Given the description of an element on the screen output the (x, y) to click on. 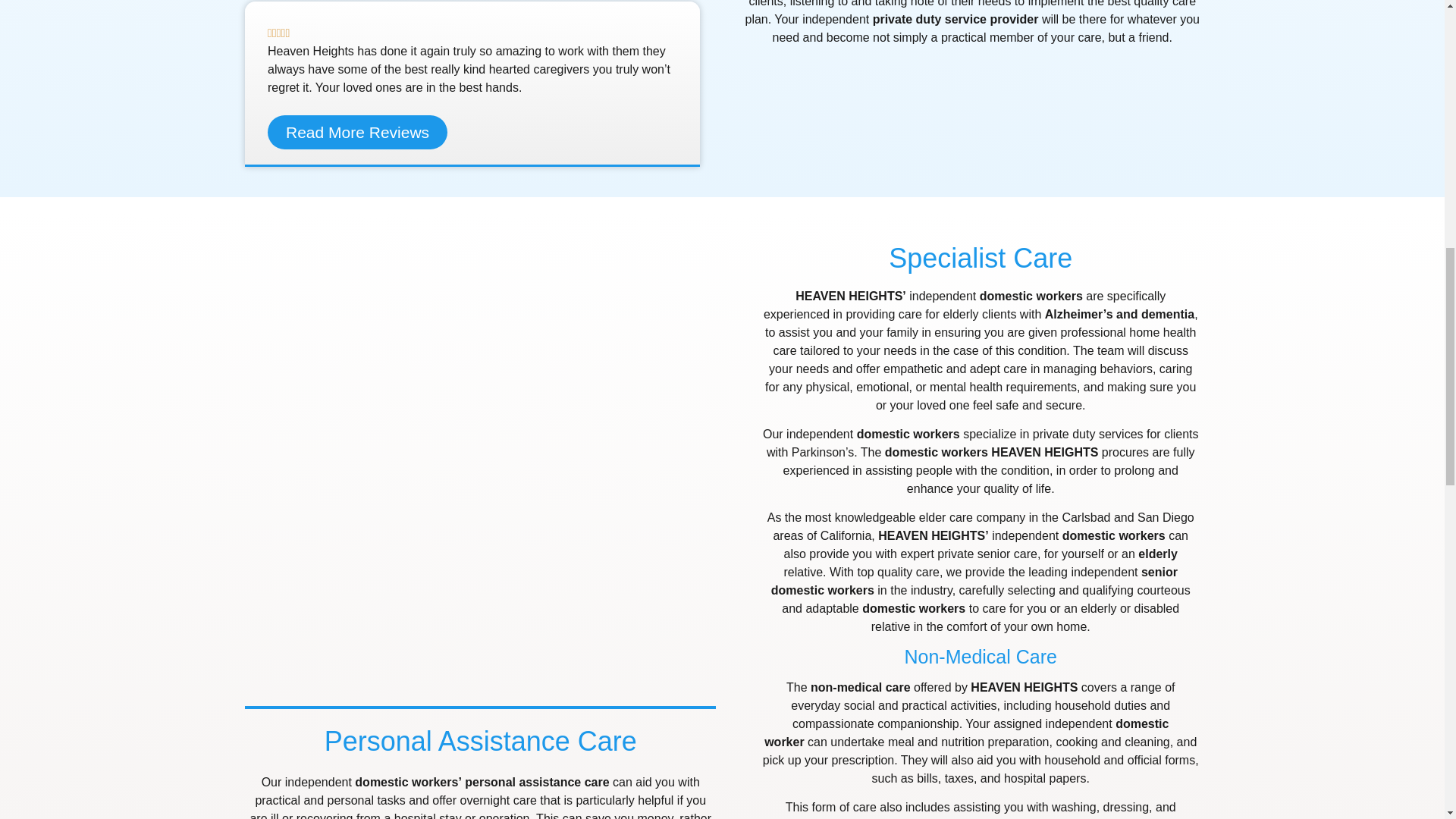
Read More Reviews (356, 132)
